Given the description of an element on the screen output the (x, y) to click on. 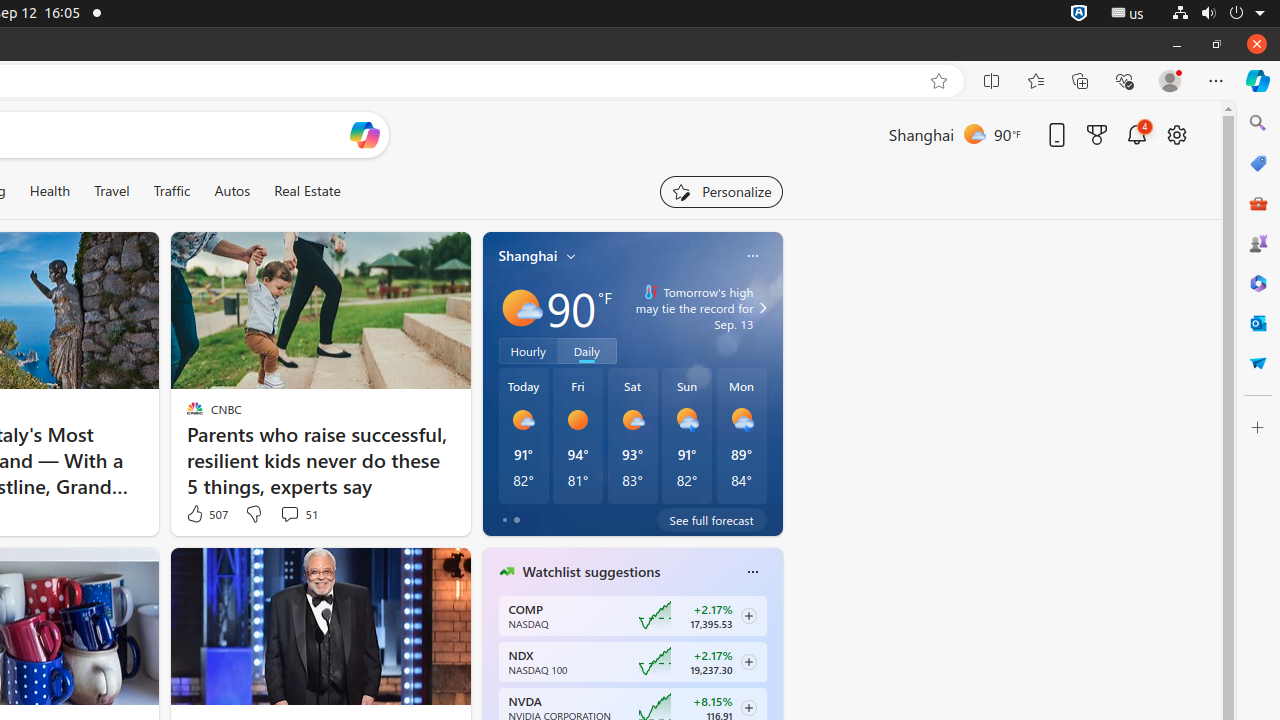
Real Estate Element type: link (307, 191)
